Given the description of an element on the screen output the (x, y) to click on. 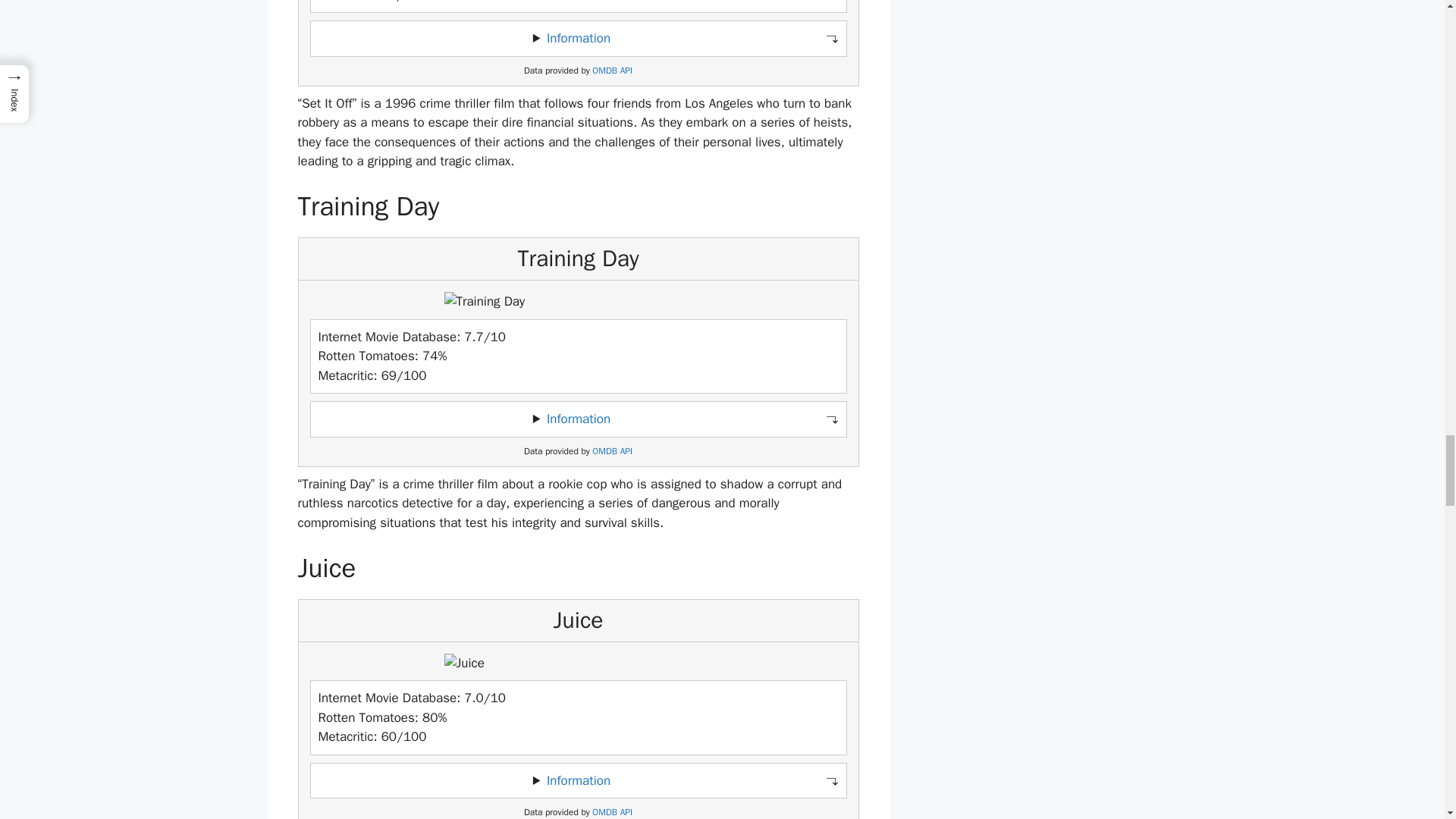
OMDB API (611, 451)
OMDB API (611, 812)
Information (578, 418)
Information (578, 37)
OMDB API (611, 70)
Information (578, 779)
